Given the description of an element on the screen output the (x, y) to click on. 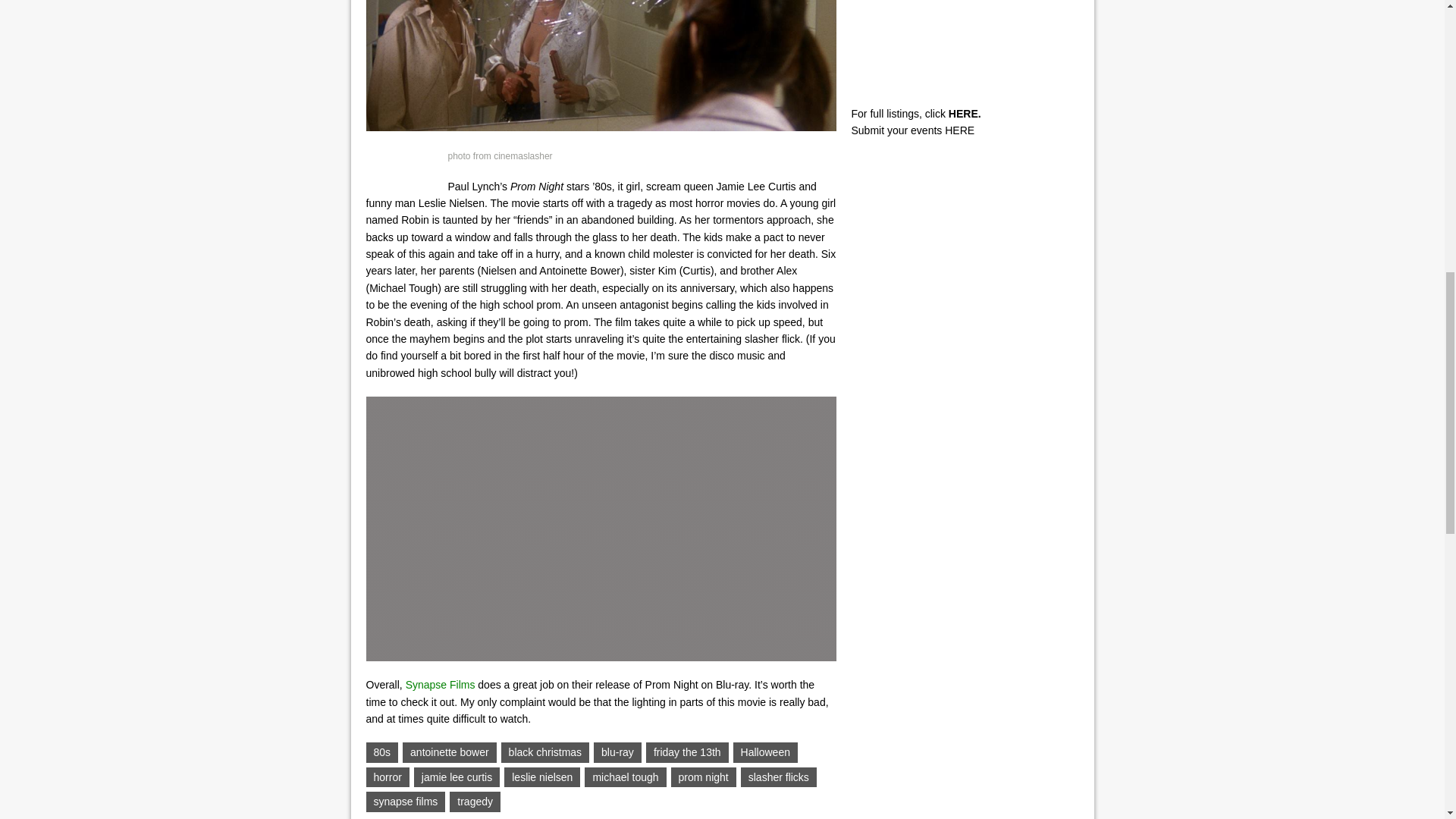
slasher flicks (778, 777)
friday the 13th (687, 752)
horror (387, 777)
antoinette bower (449, 752)
michael tough (625, 777)
prom night (703, 777)
tragedy (474, 801)
synapse films (405, 801)
Halloween (765, 752)
Synapse Films (441, 684)
